Given the description of an element on the screen output the (x, y) to click on. 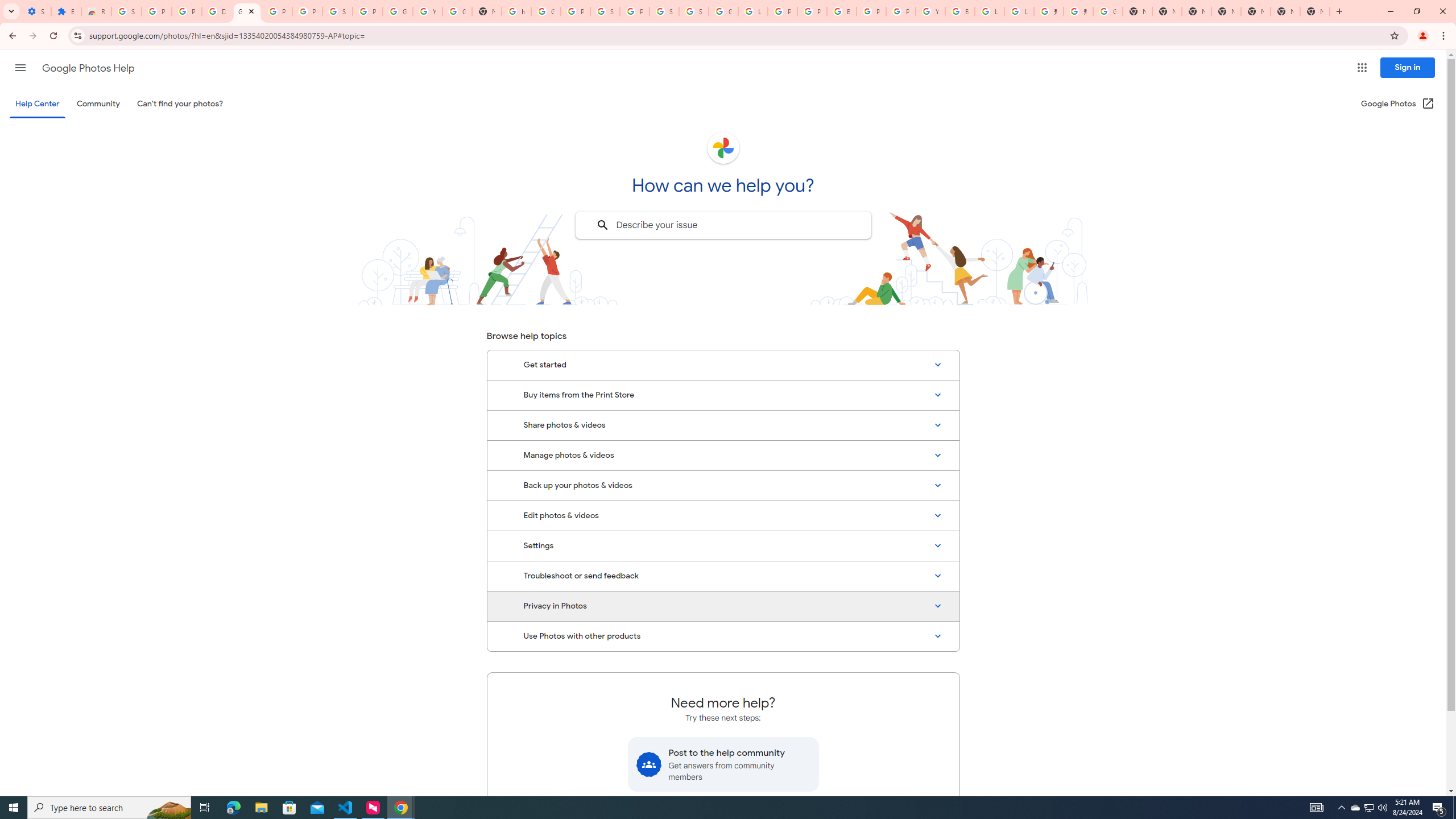
Settings - On startup (36, 11)
Sign in - Google Accounts (126, 11)
Sign in - Google Accounts (693, 11)
Extensions (65, 11)
Buy items from the Print Store (722, 395)
Sign in - Google Accounts (604, 11)
Reviews: Helix Fruit Jump Arcade Game (95, 11)
Main menu (20, 67)
